Given the description of an element on the screen output the (x, y) to click on. 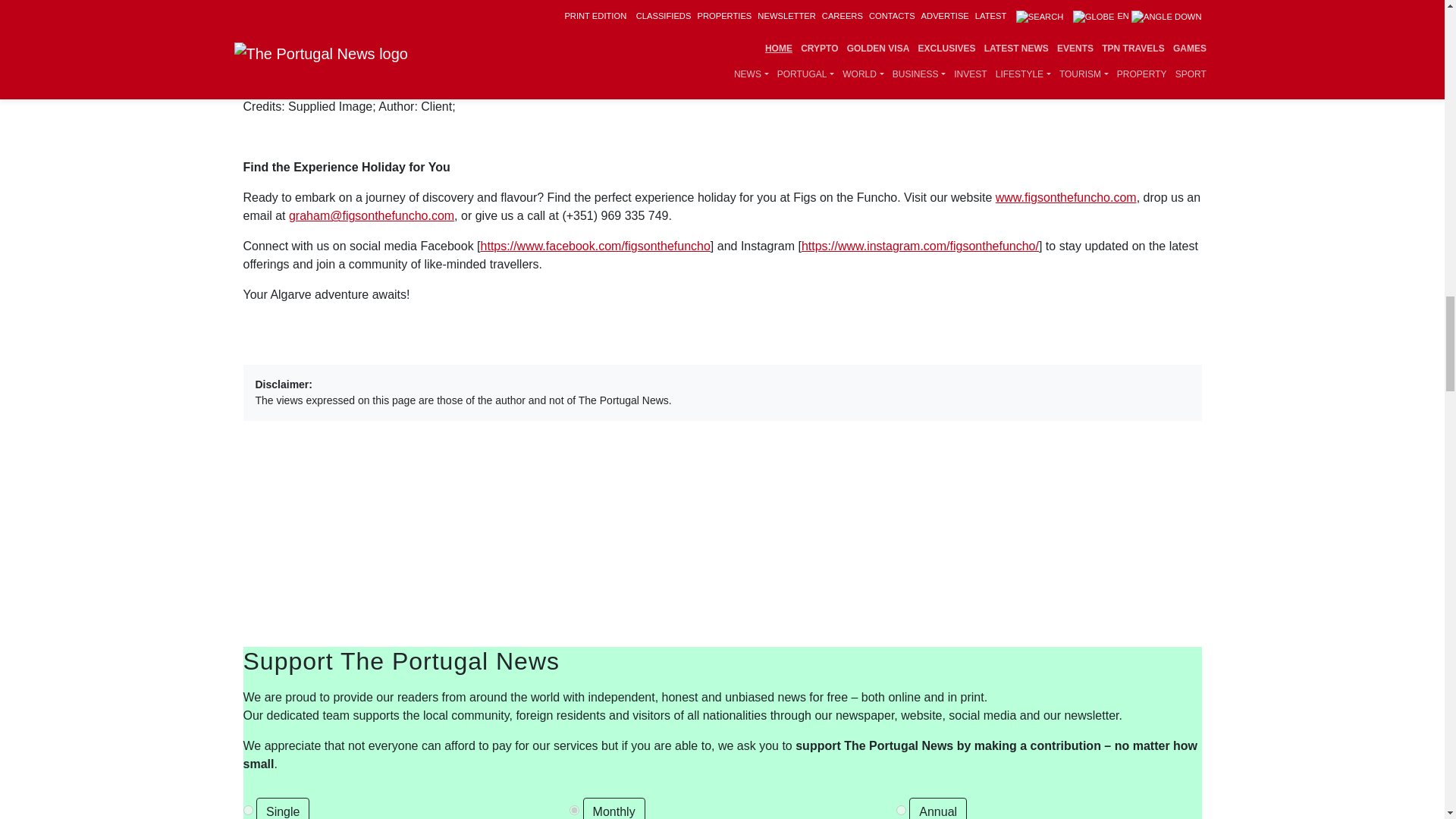
single (247, 809)
P-18662245734186221MGVD6SI (900, 809)
P-6T2758016F920900CMGGQYMQ (574, 809)
